Given the description of an element on the screen output the (x, y) to click on. 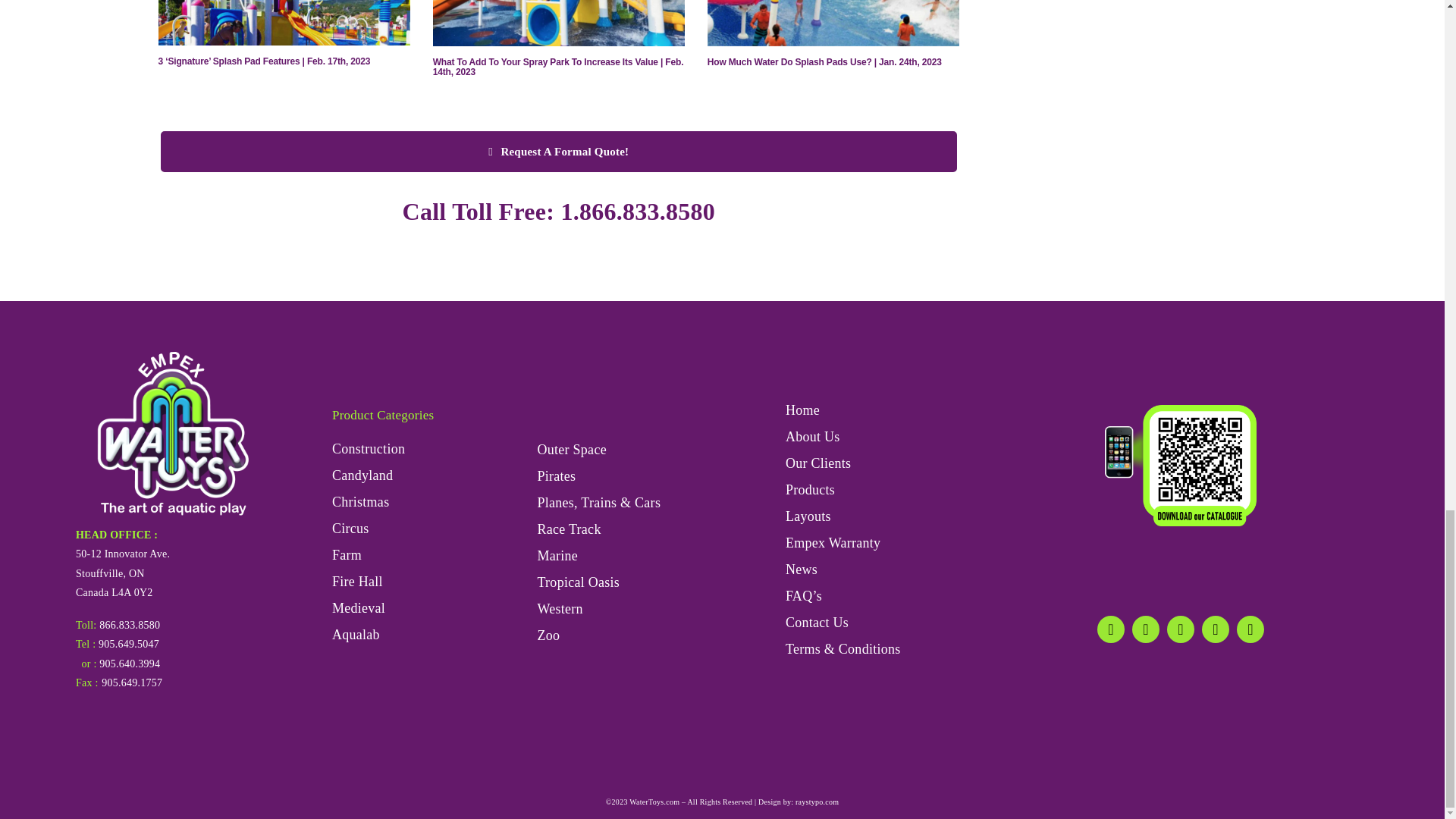
X (1145, 628)
Instagram (1180, 628)
Facebook (1110, 628)
Pinterest (1215, 628)
